Given the description of an element on the screen output the (x, y) to click on. 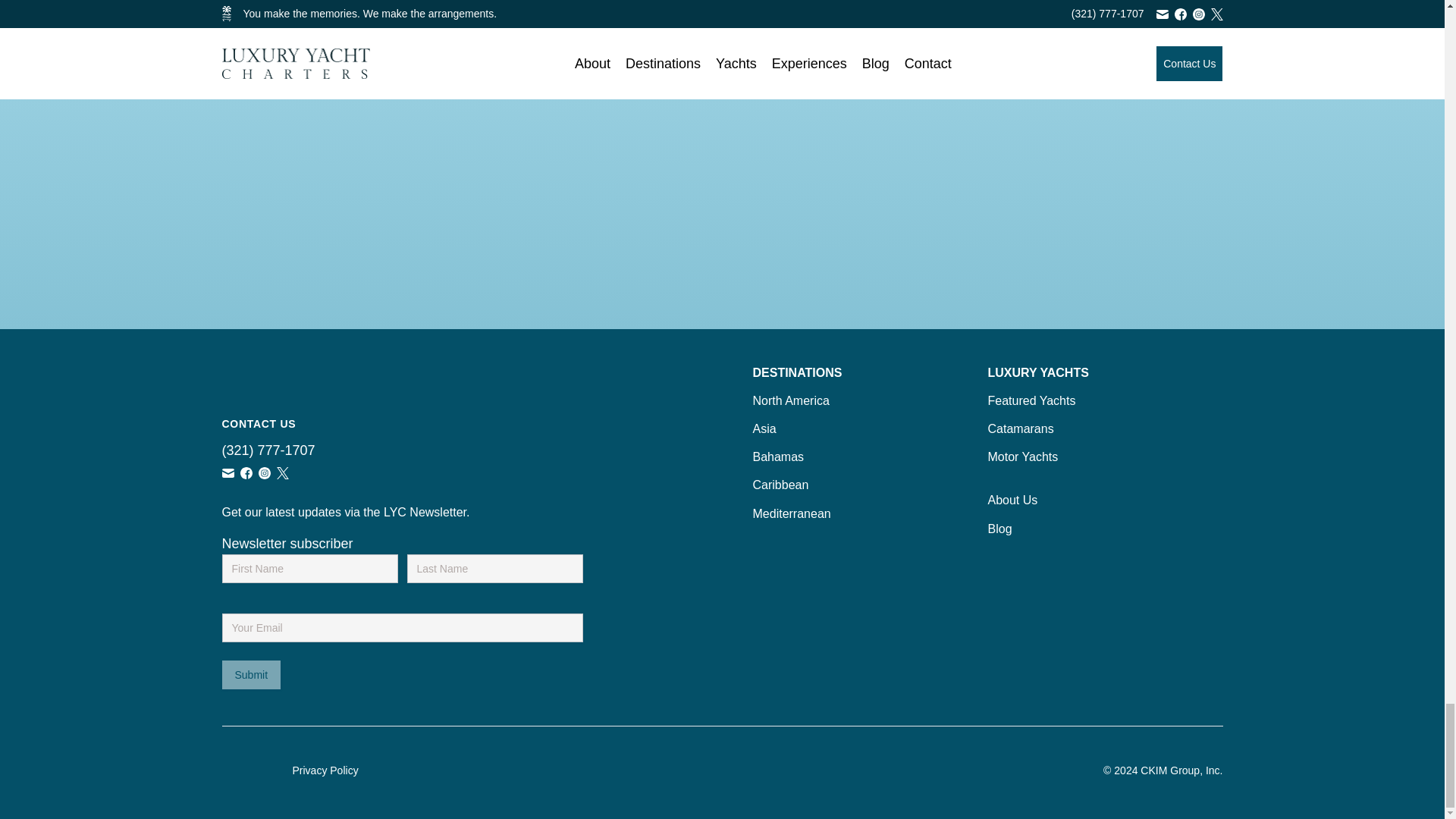
Submit (251, 674)
